Given the description of an element on the screen output the (x, y) to click on. 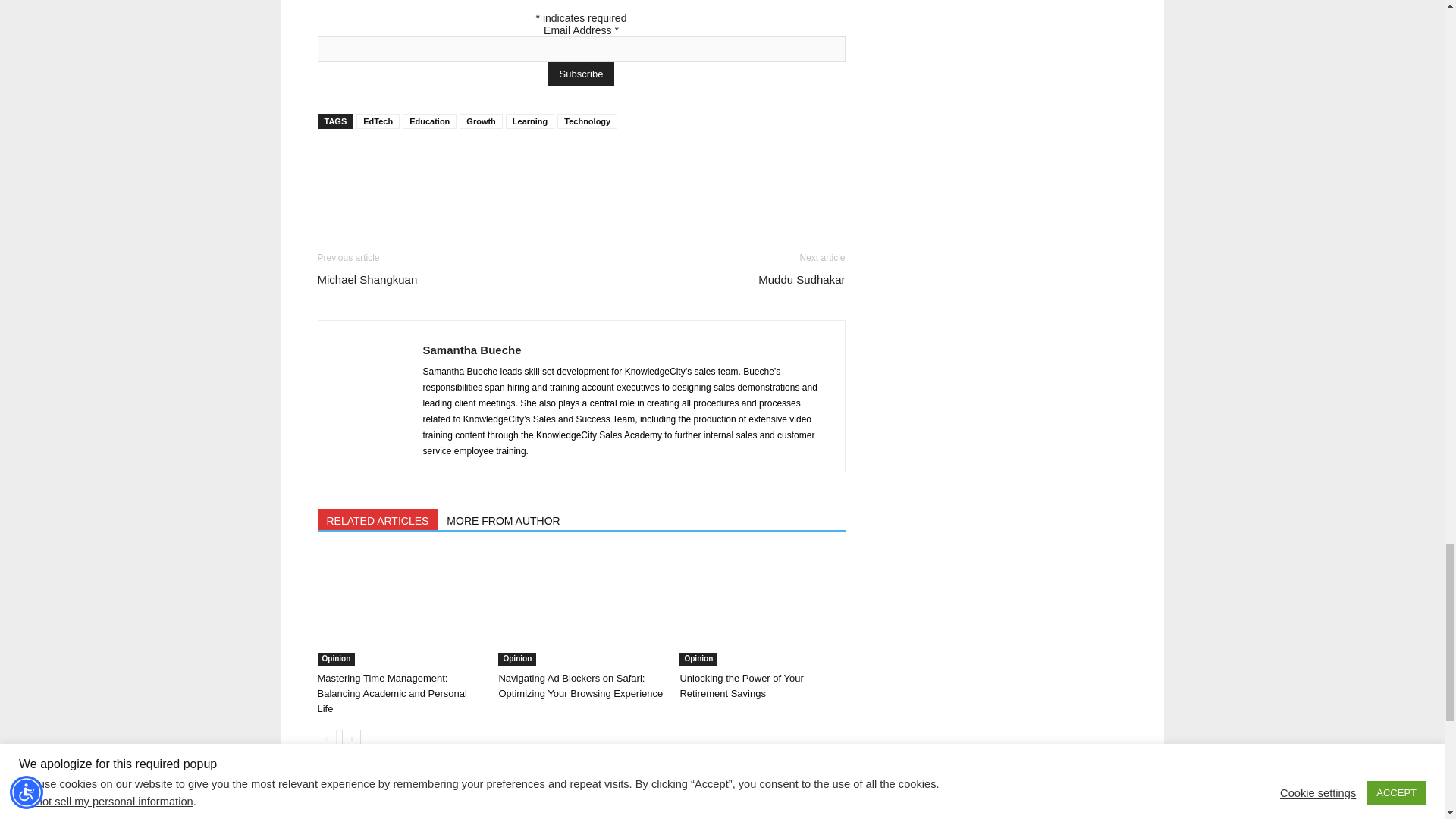
Subscribe (581, 73)
